Given the description of an element on the screen output the (x, y) to click on. 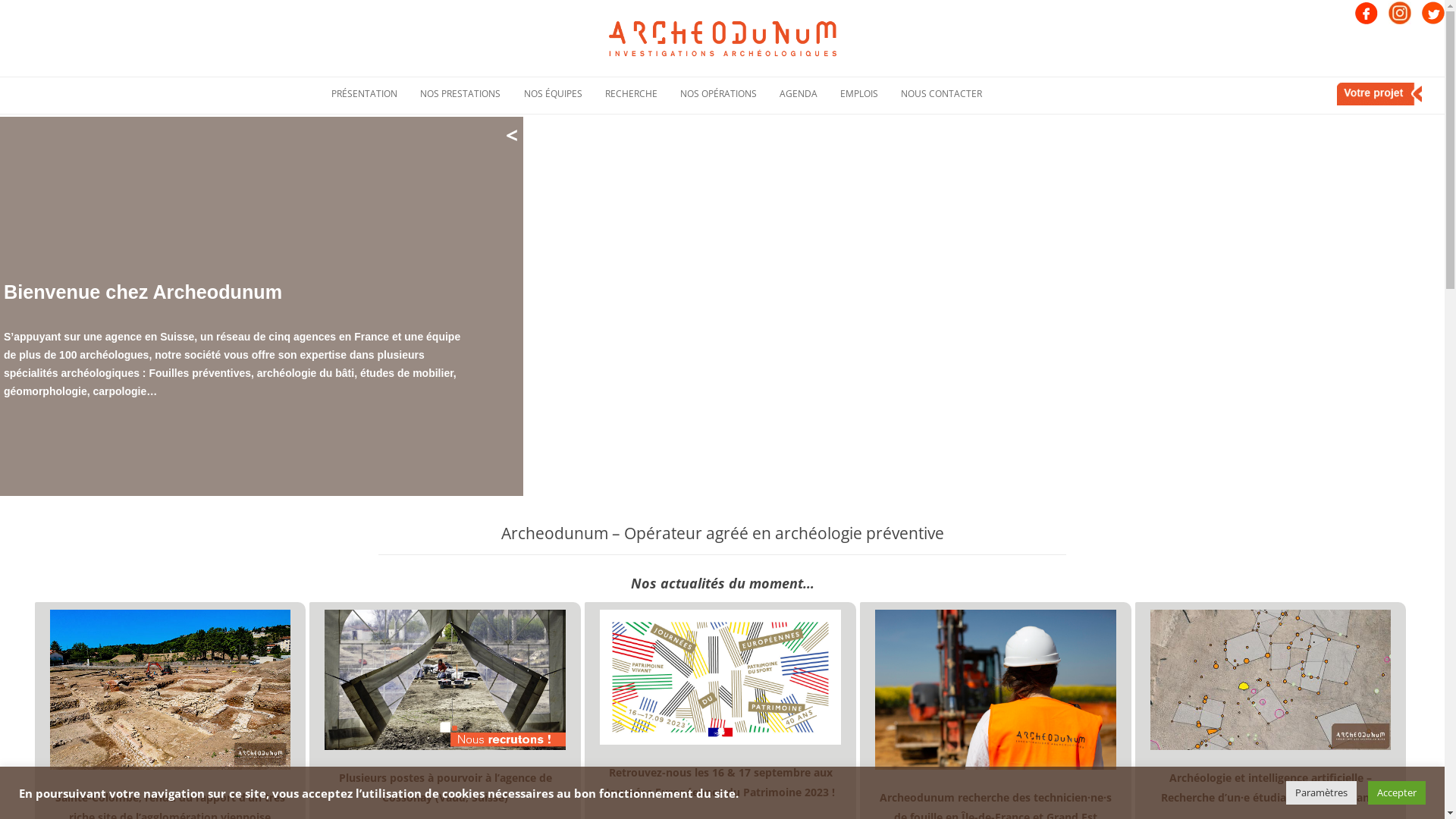
< Element type: text (511, 134)
RECHERCHE Element type: text (631, 93)
Qui sommes-nous Element type: text (376, 121)
Accepter Element type: text (1396, 792)
Aller au contenu Element type: text (721, 76)
EMPLOIS Element type: text (859, 93)
AGENDA Element type: text (798, 93)
Notre politique scientifique Element type: text (650, 126)
Offres de recrutement Element type: text (885, 126)
NOUS CONTACTER Element type: text (941, 93)
Formulaire de contact Element type: text (945, 126)
NOS PRESTATIONS Element type: text (460, 93)
